Given the description of an element on the screen output the (x, y) to click on. 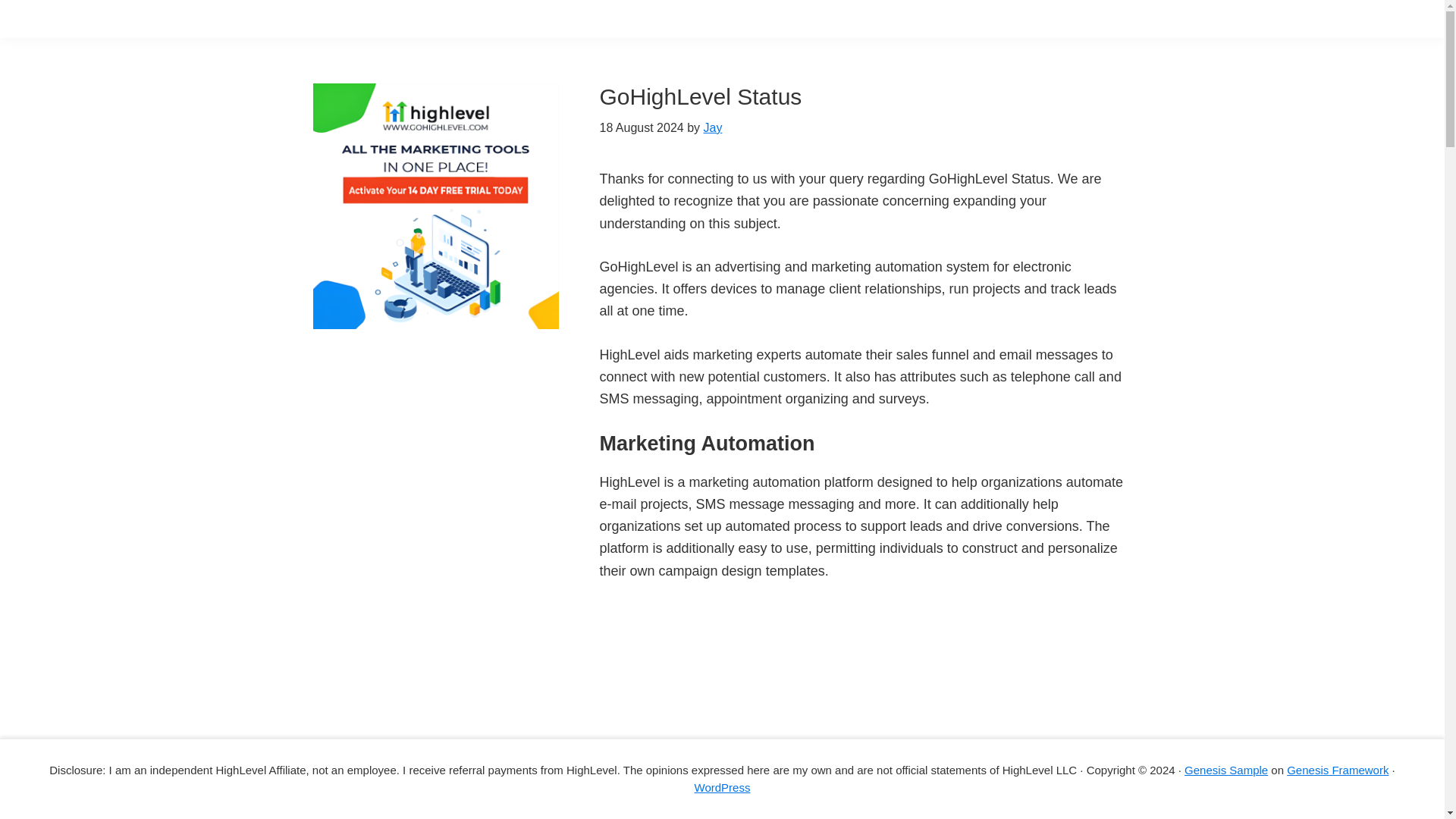
WordPress (722, 787)
Jay (712, 127)
Welcome To HighLevel (788, 709)
Genesis Framework (1338, 769)
Genesis Sample (1226, 769)
